Given the description of an element on the screen output the (x, y) to click on. 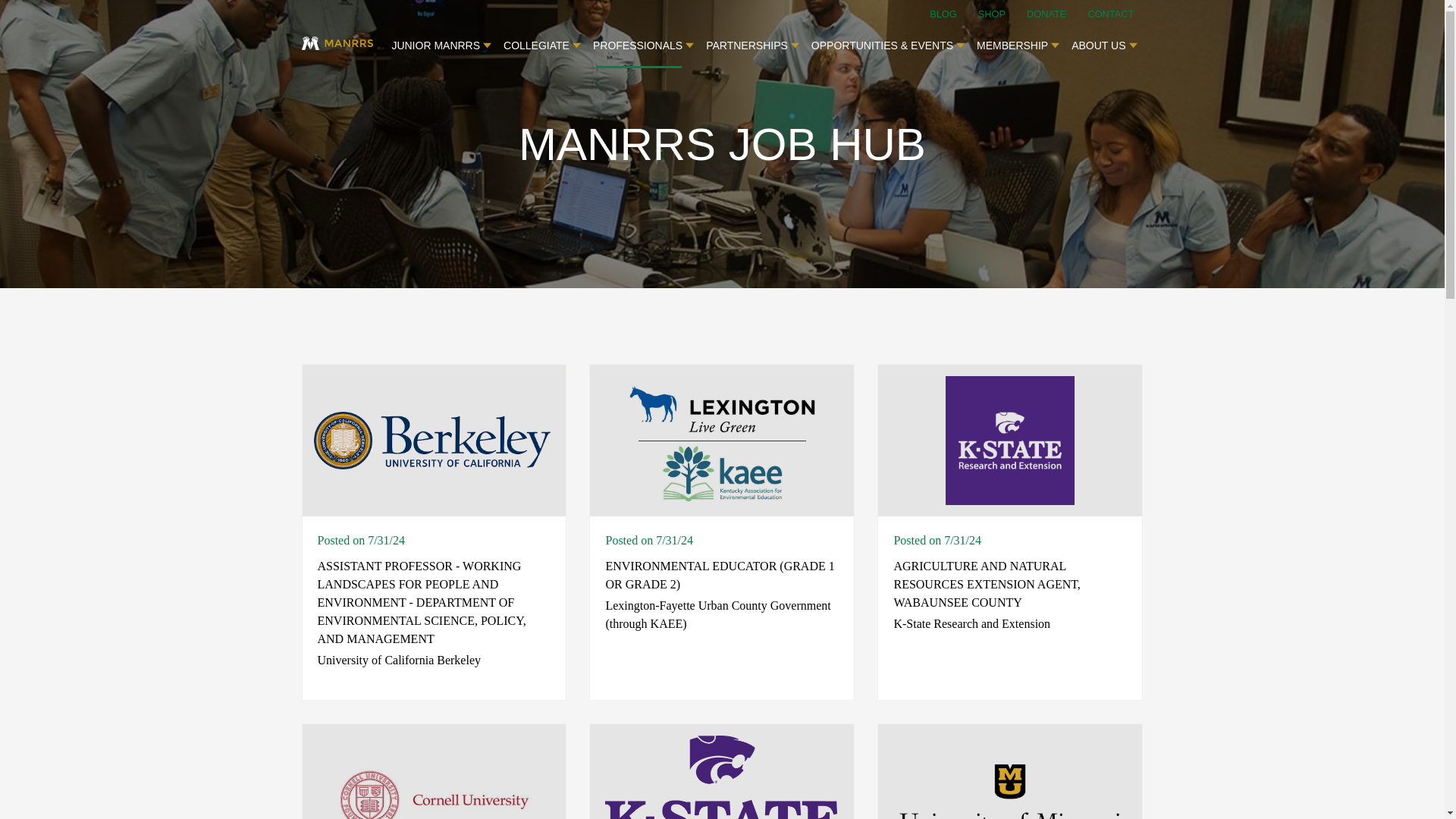
BLOG (952, 13)
PARTNERSHIPS (752, 40)
PROFESSIONALS (643, 40)
MEMBERSHIP (1018, 40)
DONATE (1055, 13)
JUNIOR MANRRS (441, 40)
COLLEGIATE (541, 40)
CONTACT (1110, 13)
SHOP (1000, 13)
